Given the description of an element on the screen output the (x, y) to click on. 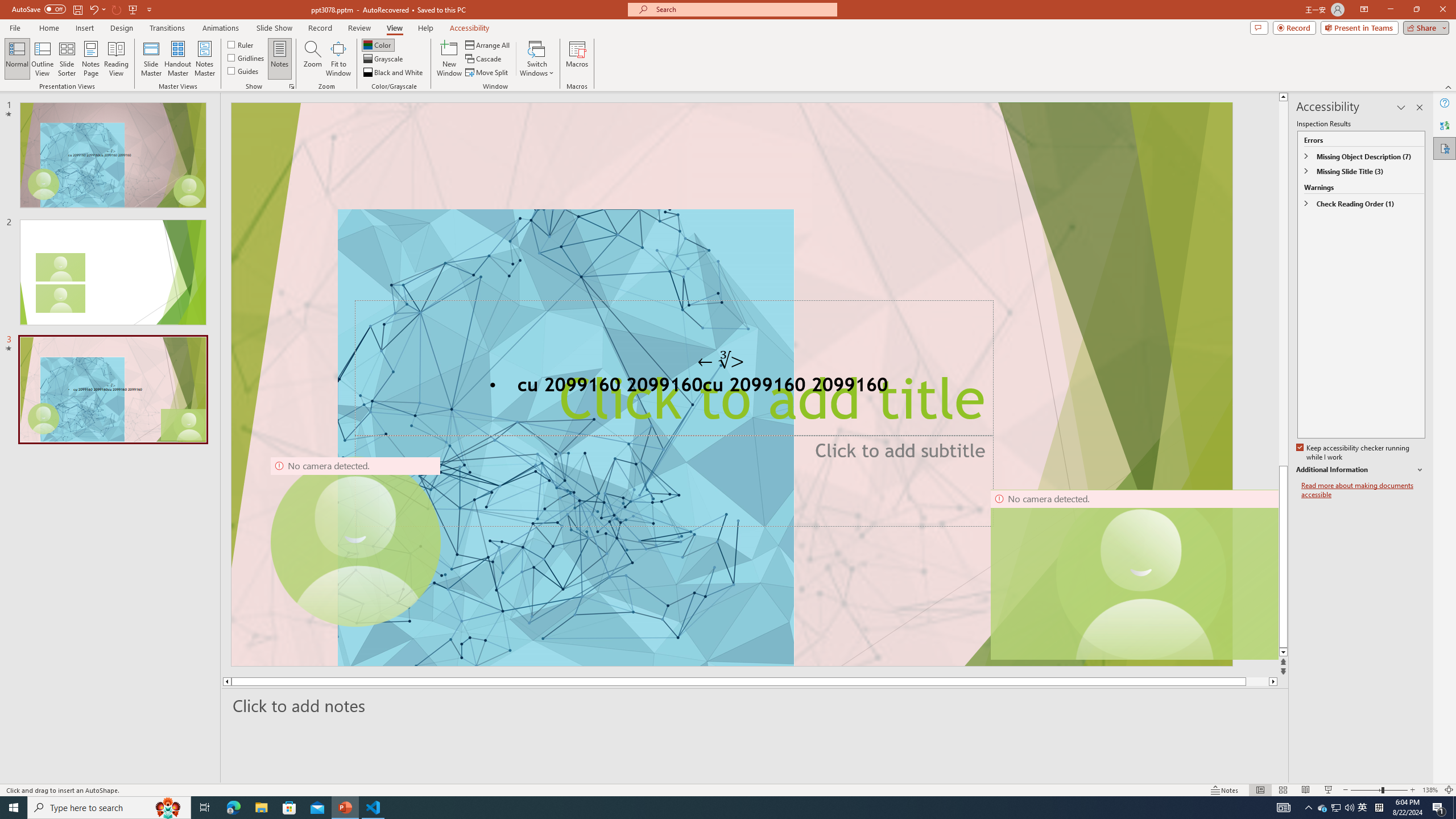
Cascade (484, 58)
Notes Master (204, 58)
